Given the description of an element on the screen output the (x, y) to click on. 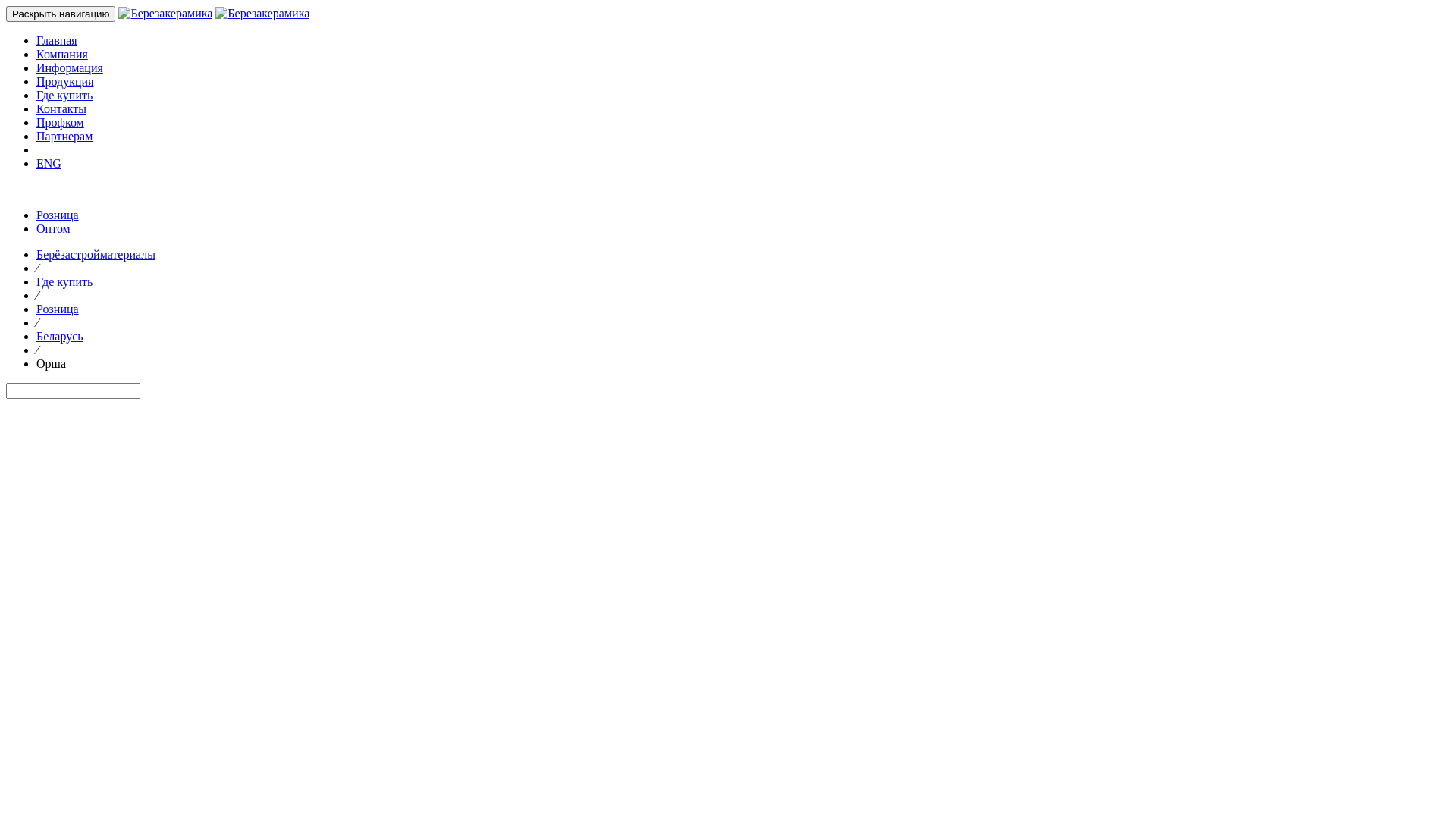
ENG Element type: text (48, 162)
